Given the description of an element on the screen output the (x, y) to click on. 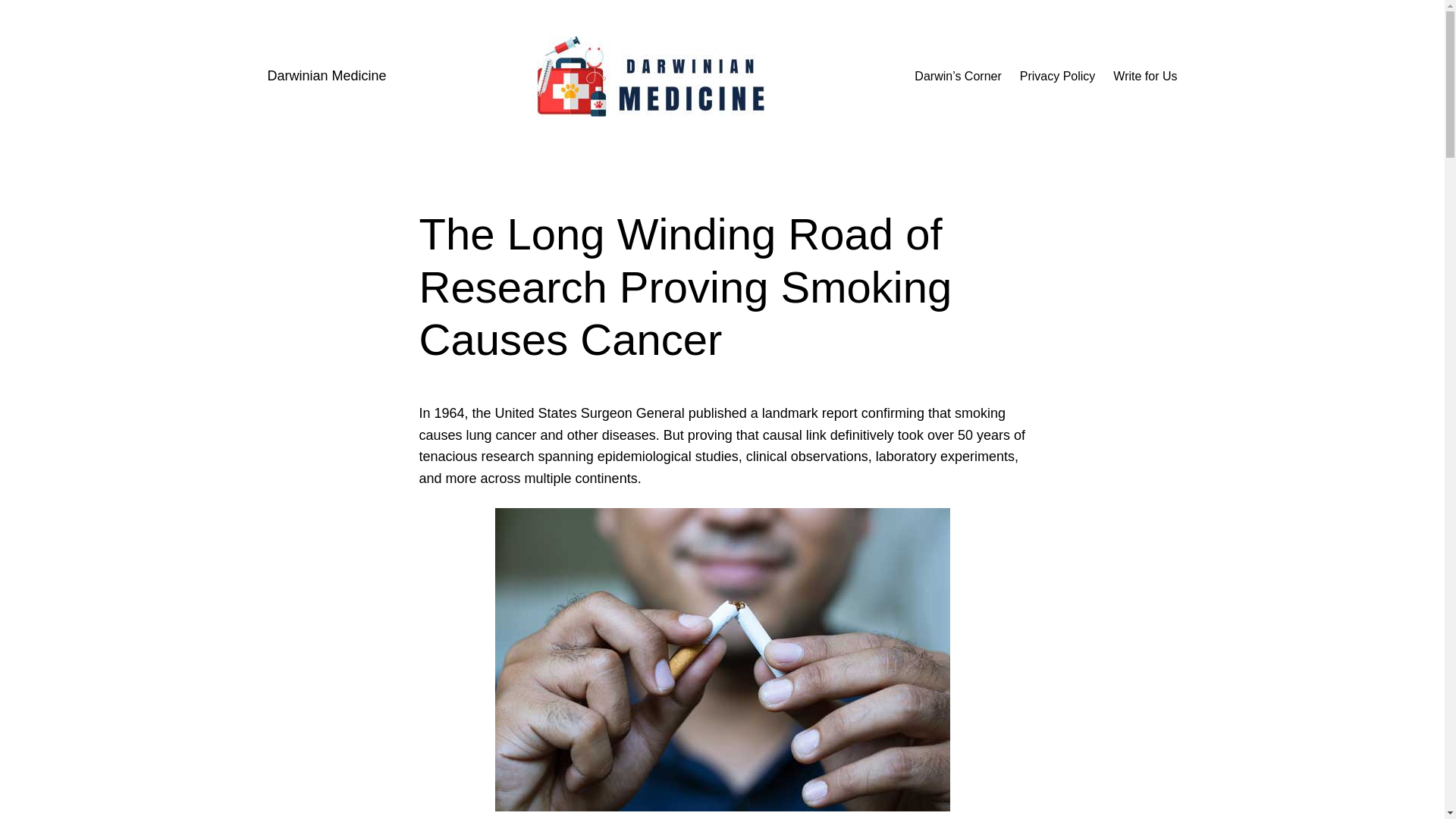
Darwinian Medicine (325, 75)
Privacy Policy (1058, 76)
Write for Us (1144, 76)
